Given the description of an element on the screen output the (x, y) to click on. 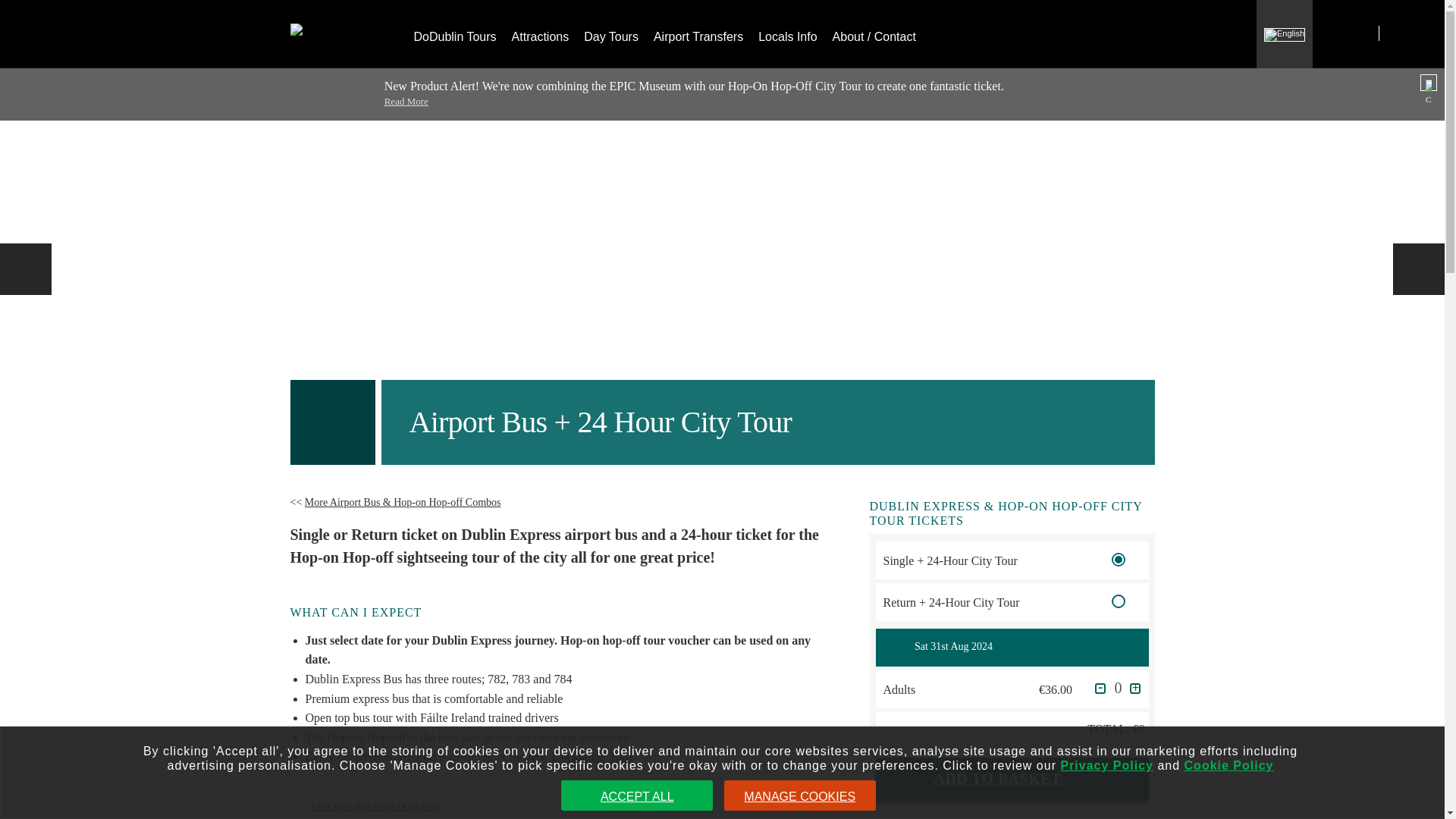
0 (1117, 688)
350 (1118, 601)
DoDublin (341, 13)
Sat 31st Aug 2024 (1026, 646)
DoDublin Tours (454, 33)
Close (1429, 82)
348 (1118, 559)
Locals Info (787, 33)
Attractions (539, 33)
Airport Transfers (698, 33)
